Given the description of an element on the screen output the (x, y) to click on. 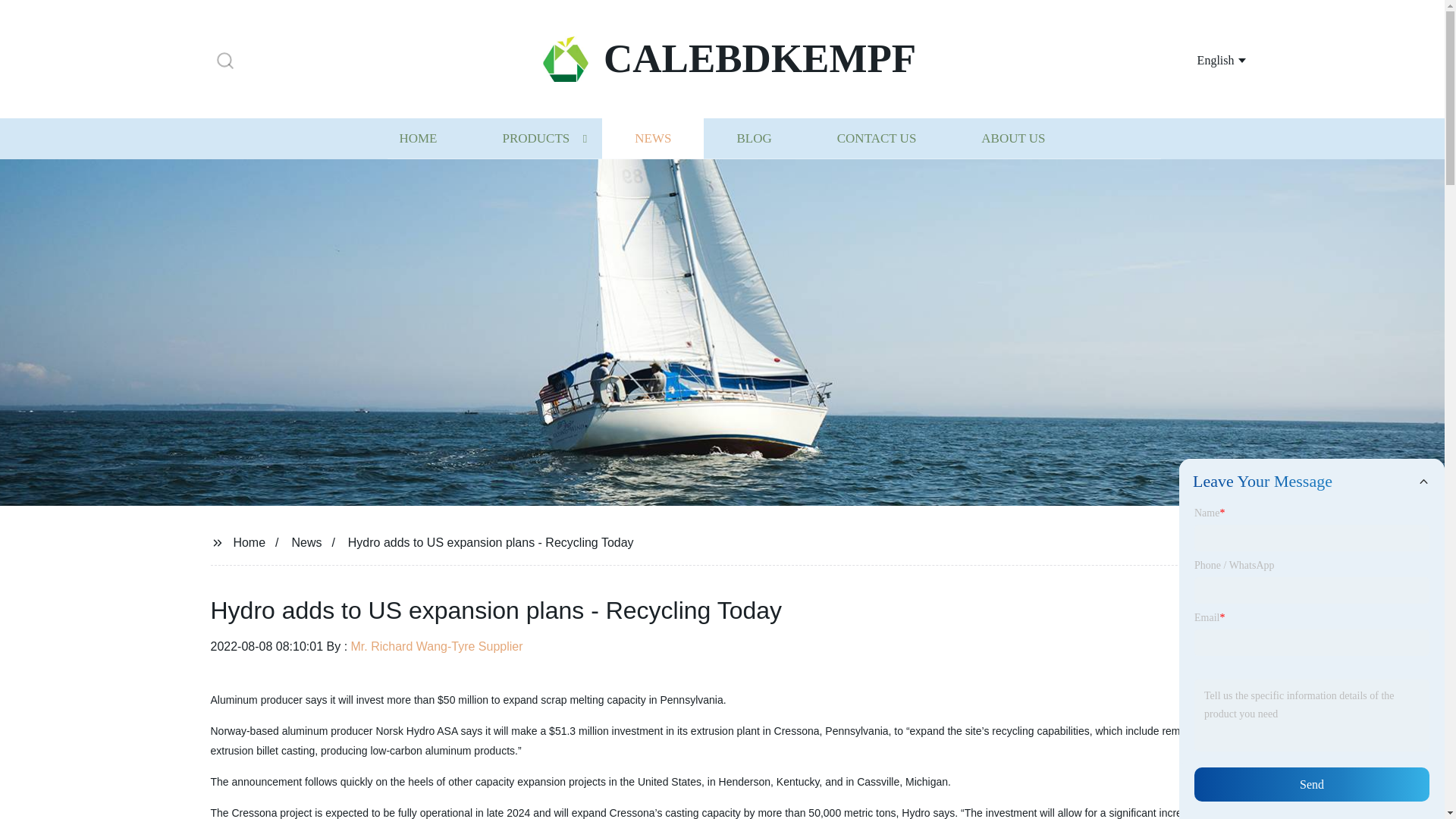
BLOG (753, 137)
CONTACT US (877, 137)
NEWS (652, 137)
PRODUCTS (535, 137)
News (306, 541)
Top (1404, 779)
ABOUT US (1013, 137)
Home (248, 541)
English (1203, 59)
HOME (417, 137)
English (1203, 59)
